Given the description of an element on the screen output the (x, y) to click on. 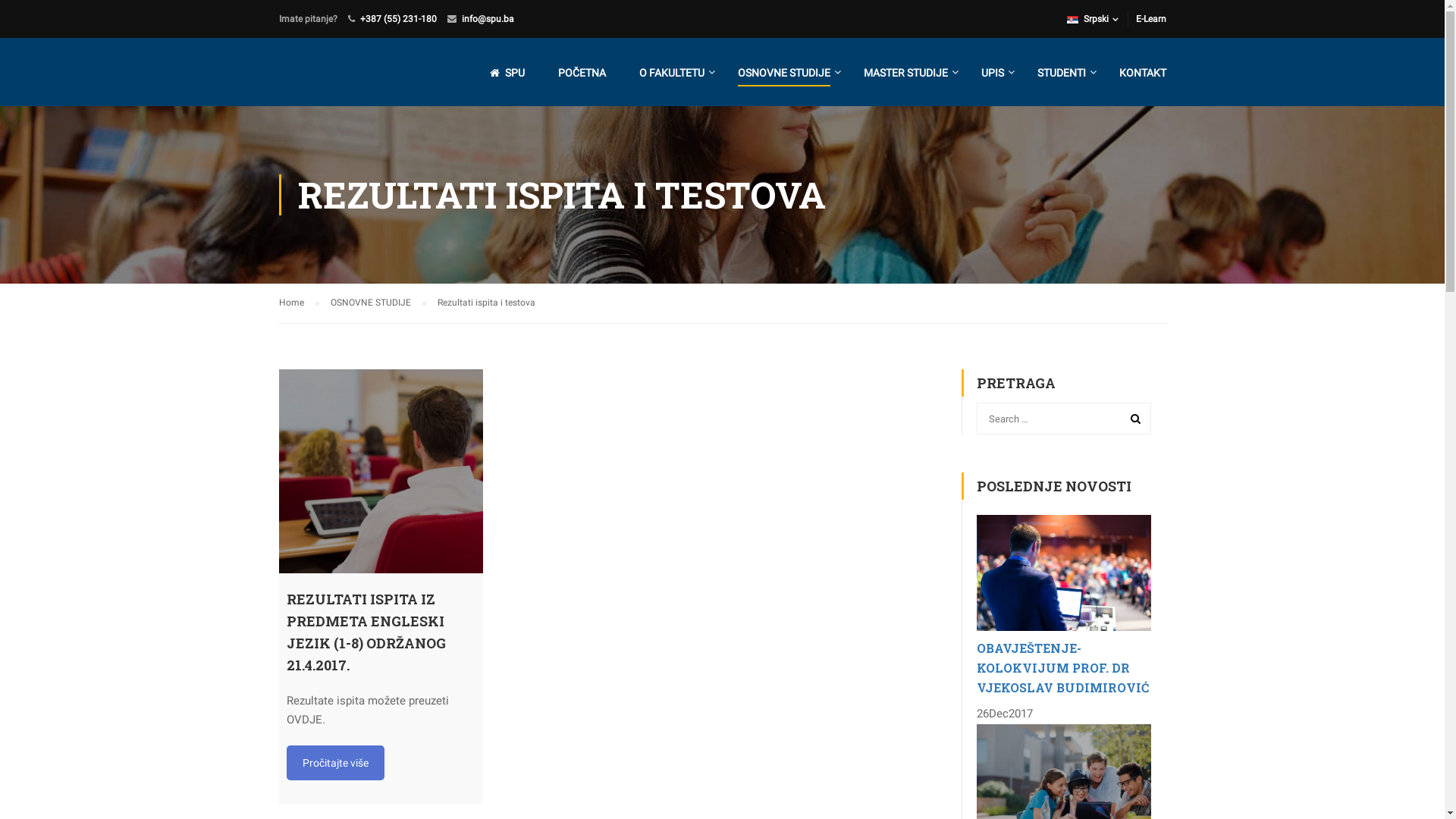
E-Learn Element type: text (1150, 18)
KONTAKT Element type: text (1135, 79)
OSNOVNE STUDIJE Element type: text (378, 302)
Search Element type: text (1132, 417)
MASTER STUDIJE Element type: text (904, 79)
O FAKULTETU Element type: text (670, 79)
info@spu.ba Element type: text (487, 18)
+387 (55) 231-180 Element type: text (397, 18)
SPU Element type: text (506, 79)
STUDENTI Element type: text (1061, 79)
Home Element type: text (299, 302)
UPIS Element type: text (992, 79)
Srpski Element type: text (1097, 18)
OSNOVNE STUDIJE Element type: text (782, 79)
